Given the description of an element on the screen output the (x, y) to click on. 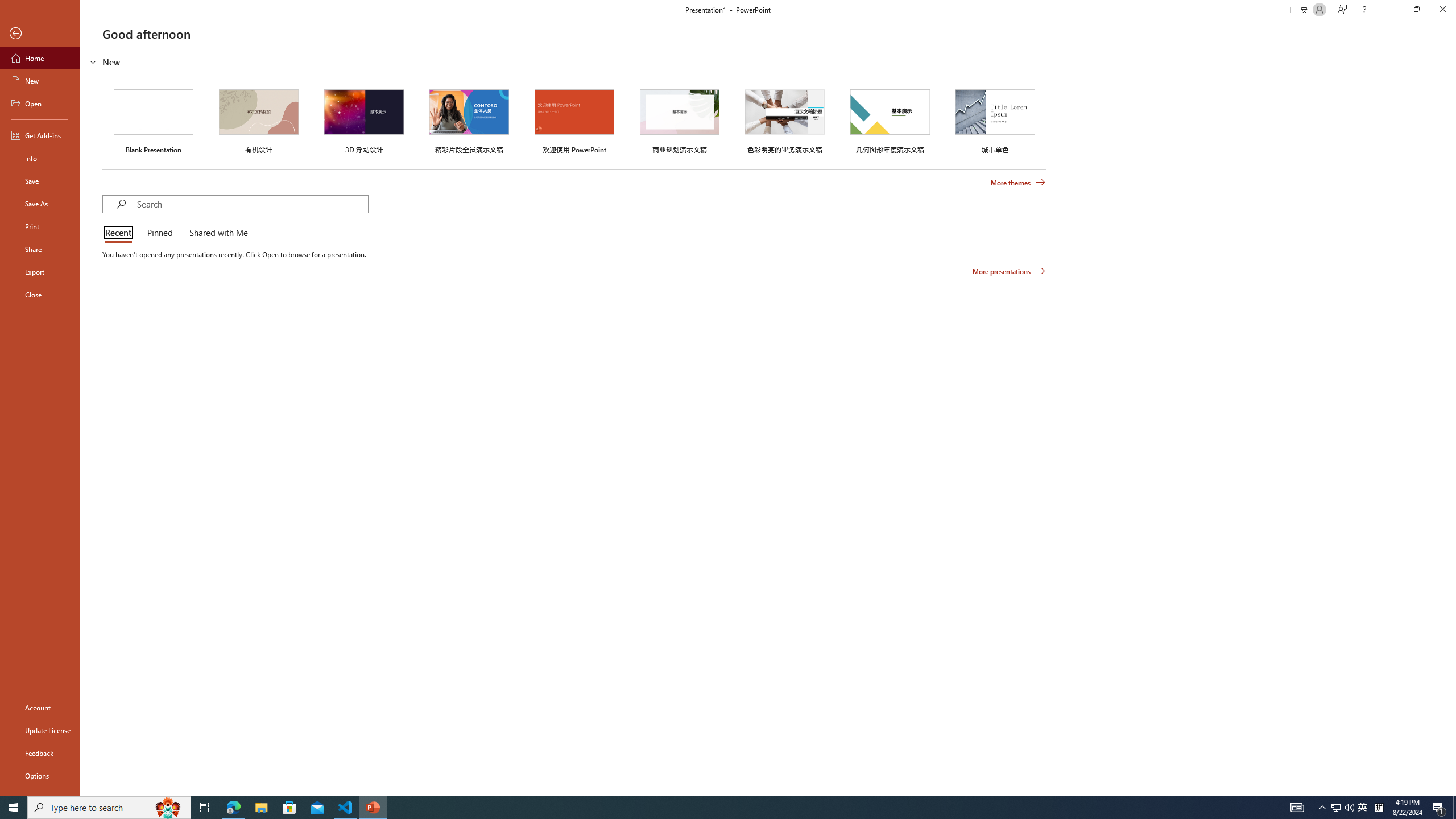
Account (40, 707)
Close (1442, 9)
Restore Down (1416, 9)
Close (40, 294)
Home (40, 57)
Back (40, 33)
Shared with Me (215, 233)
Export (40, 271)
Hide or show region (92, 61)
Get Add-ins (40, 134)
